Given the description of an element on the screen output the (x, y) to click on. 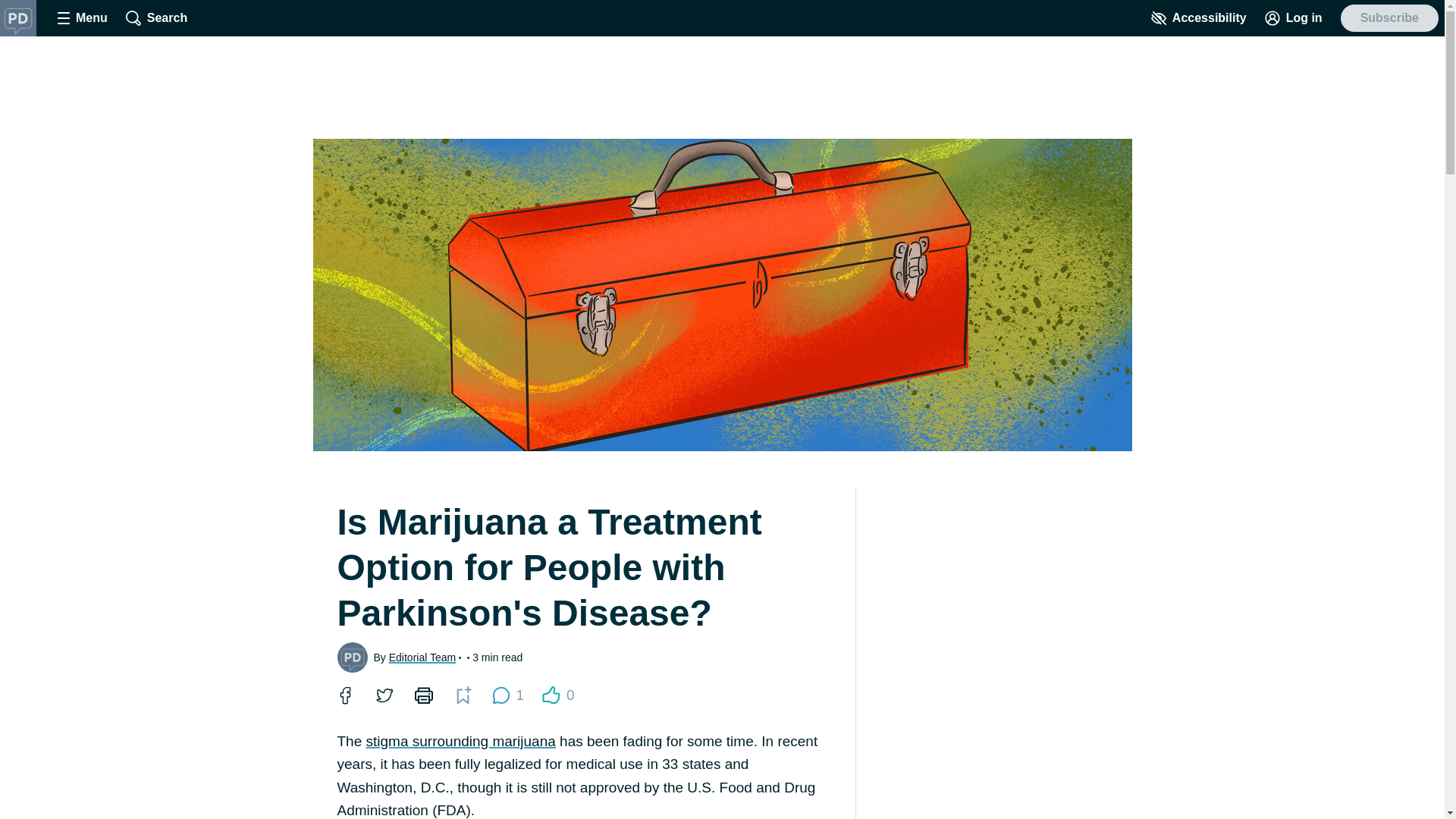
Bookmark for later (461, 695)
Search (156, 18)
Share to Twitter (383, 695)
comment (500, 695)
Accessibility (1198, 18)
Bookmark for later (462, 694)
Share to Facebook (343, 695)
print page (422, 694)
Editorial Team (421, 657)
Log in (1293, 18)
